Given the description of an element on the screen output the (x, y) to click on. 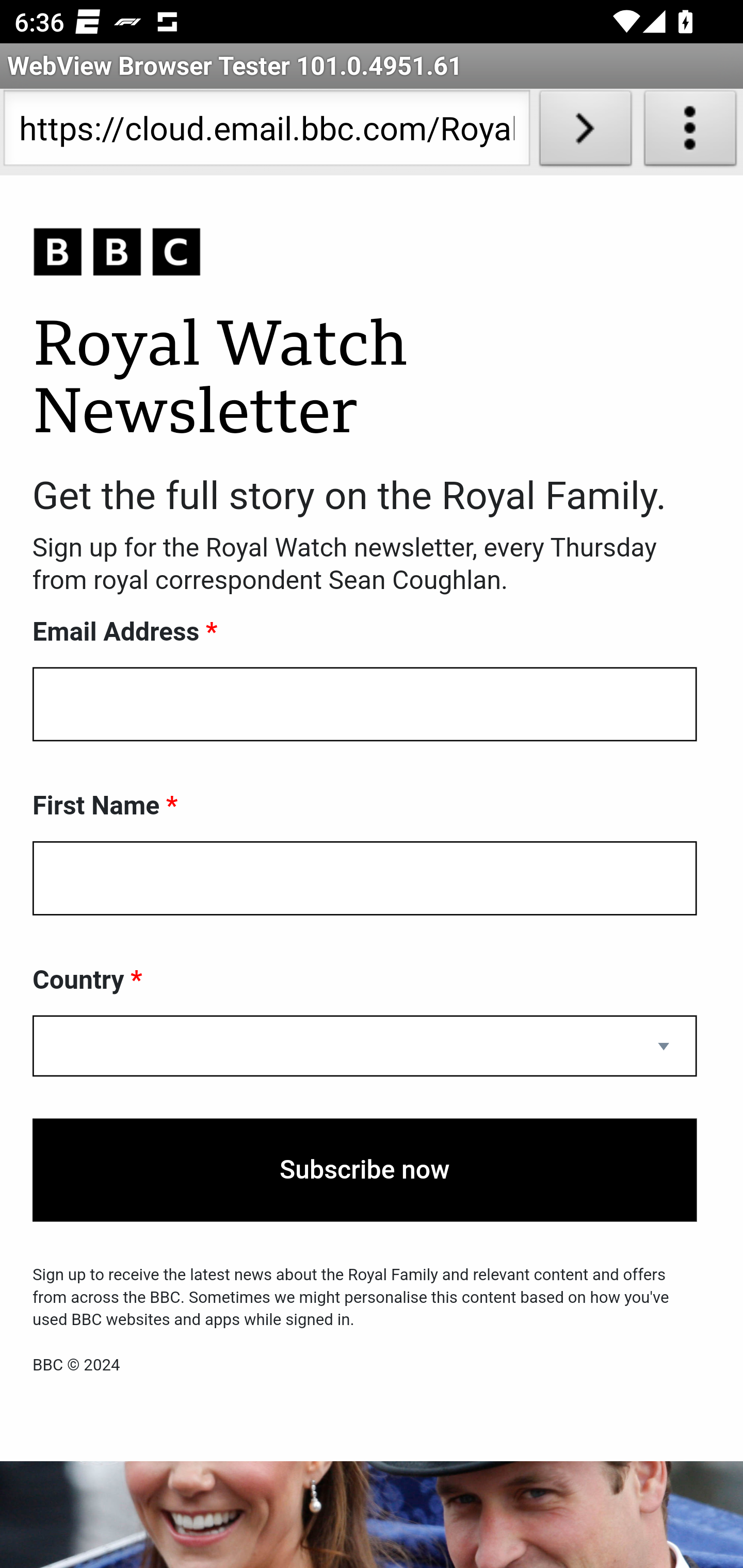
Load URL (585, 132)
About WebView (690, 132)
BBC (364, 253)
Subscribe now (364, 1170)
